Given the description of an element on the screen output the (x, y) to click on. 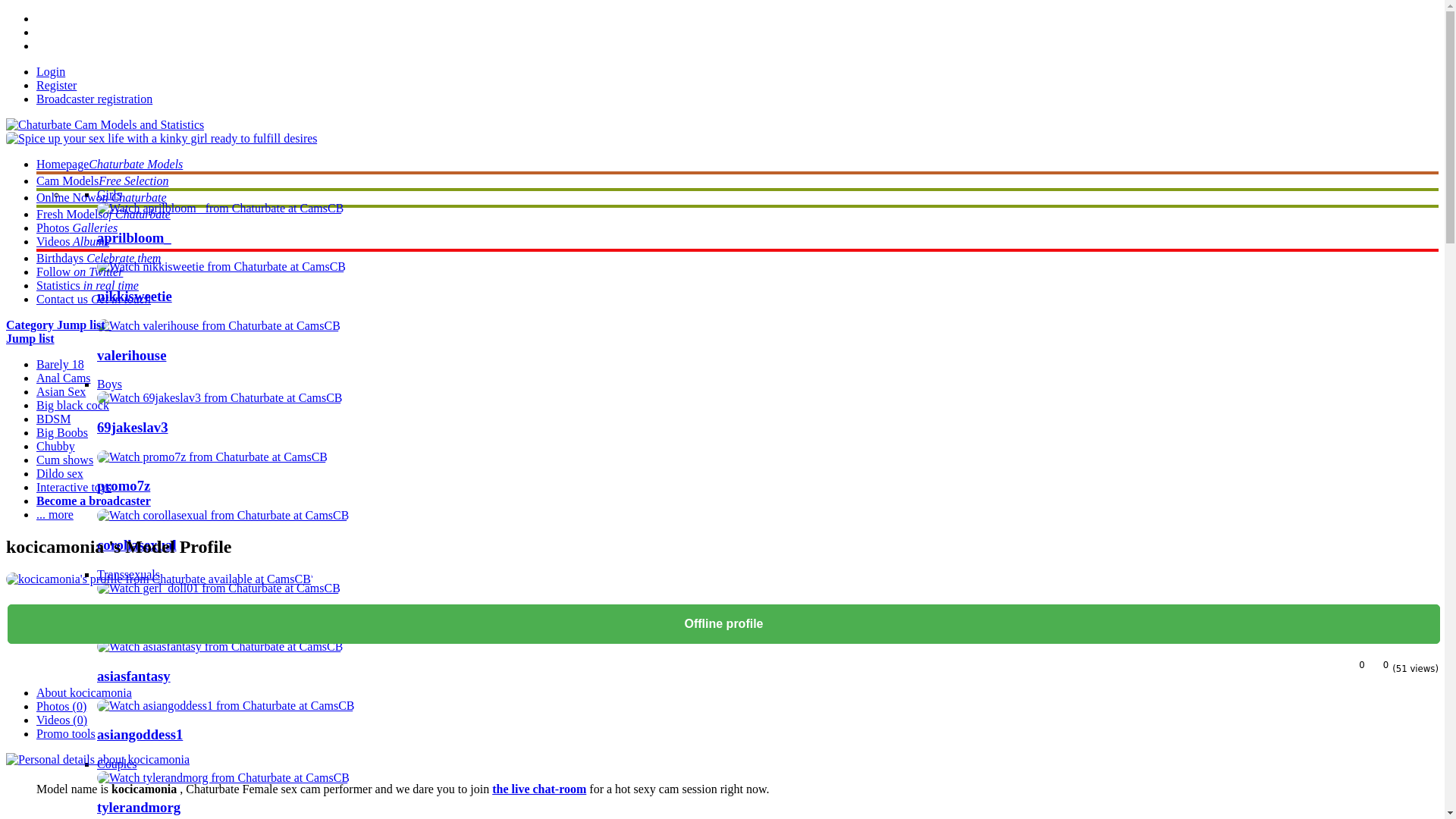
Login (50, 71)
valerihouse Chaturbate Cam Model (131, 355)
promo7z (123, 485)
Sign-up for kocicamonia at Chaturbate (56, 84)
69jakeslav3 Chaturbate Cam Model (132, 426)
Login to Chaturbate (50, 71)
Chaturbate Cam Models and Statistics (104, 124)
nikkisweetie Chaturbate Cam Model (134, 295)
69jakeslav3 Chaturbate Cam Model (219, 397)
